Given the description of an element on the screen output the (x, y) to click on. 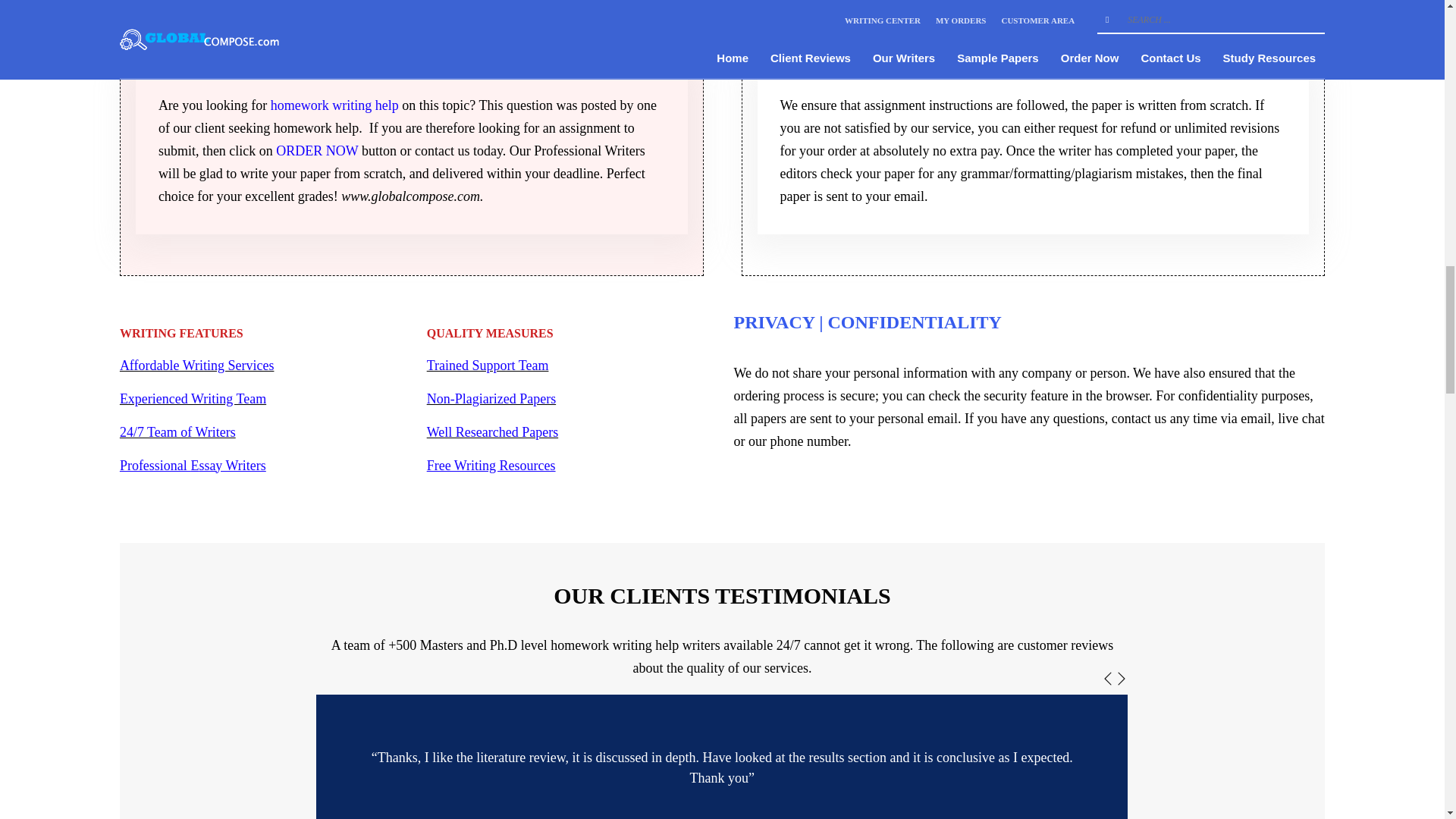
Trained Support Team (487, 365)
homework writing help (334, 105)
Affordable Writing Services (197, 365)
ORDER NOW (317, 150)
Experienced Writing Team (192, 398)
Well Researched Papers (491, 432)
Professional Essay Writers (192, 465)
Non-Plagiarized Papers (491, 398)
Free Writing Resources (491, 465)
